Given the description of an element on the screen output the (x, y) to click on. 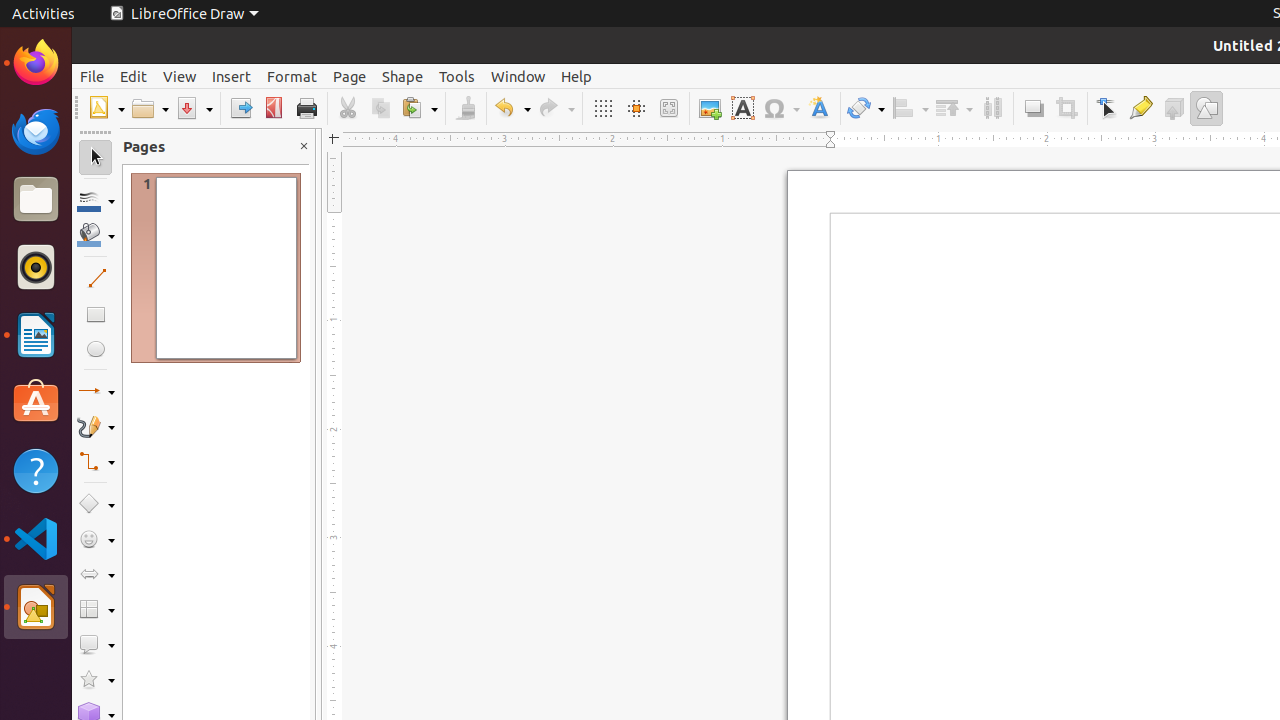
Open Element type: push-button (150, 108)
Format Element type: menu (292, 76)
Distribution Element type: push-button (992, 108)
Callout Shapes Element type: push-button (96, 644)
Files Element type: push-button (36, 199)
